Given the description of an element on the screen output the (x, y) to click on. 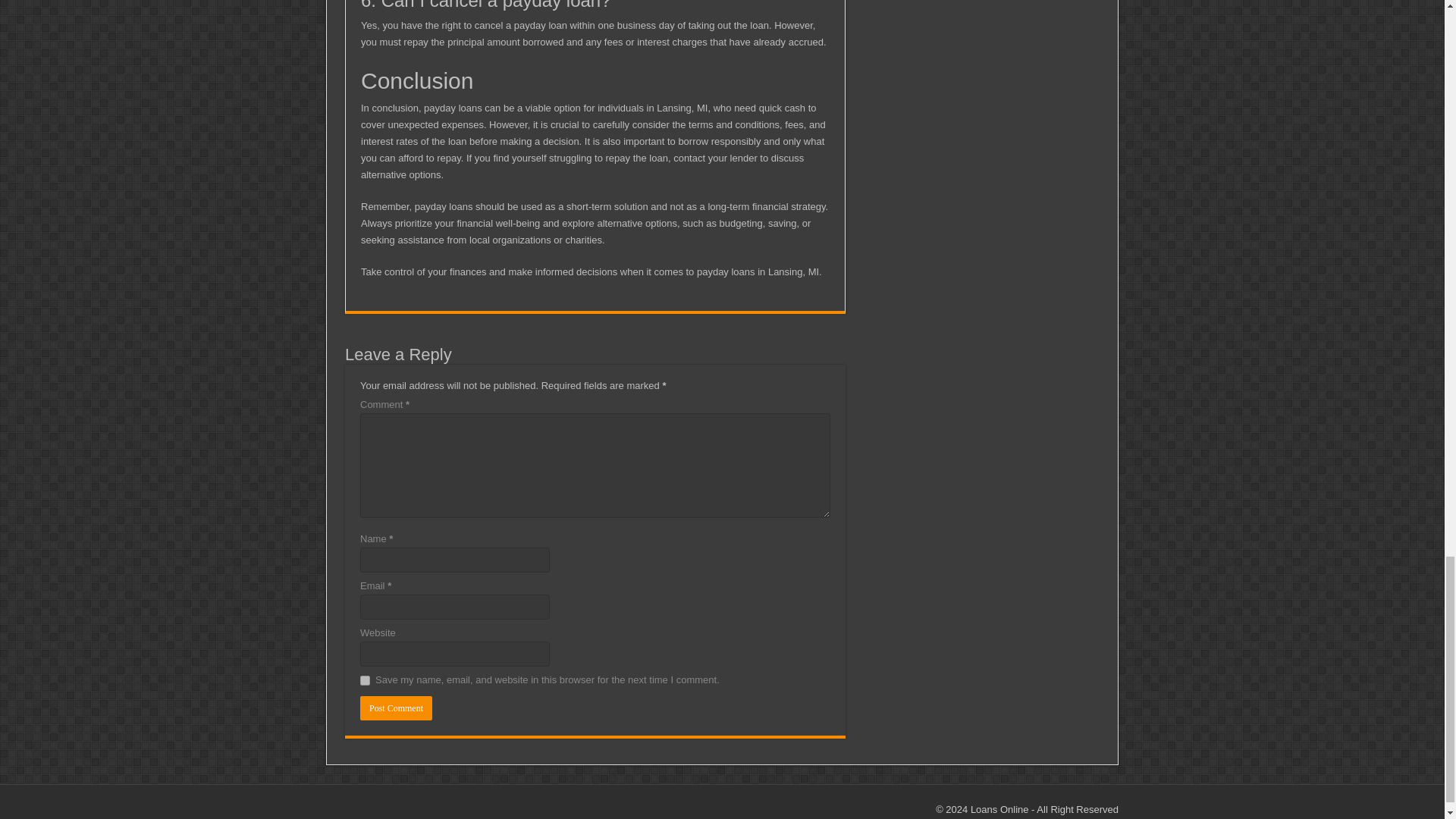
Post Comment (395, 708)
yes (364, 680)
Post Comment (395, 708)
